Given the description of an element on the screen output the (x, y) to click on. 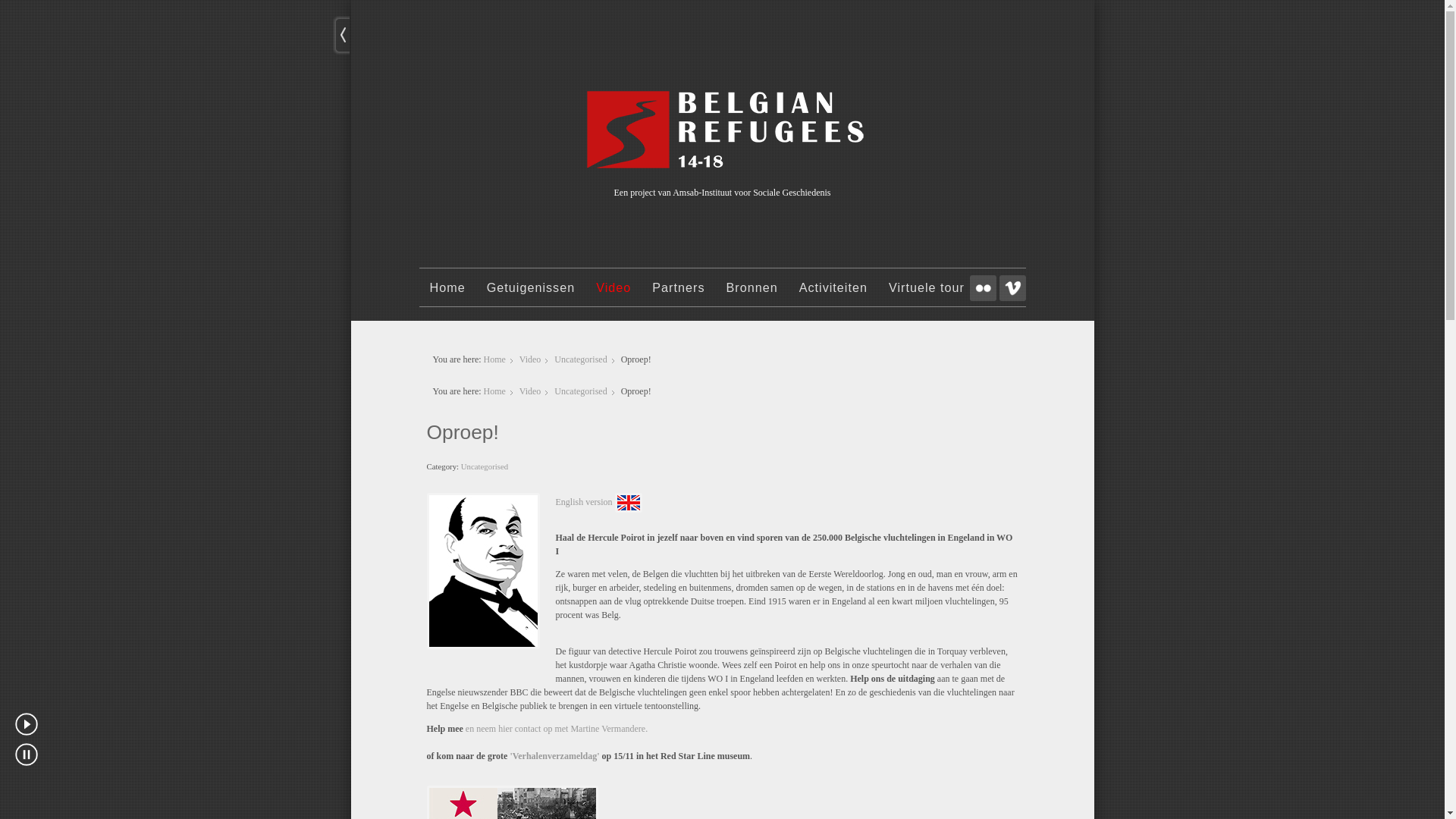
Uncategorised Element type: text (484, 465)
Activiteiten Element type: text (833, 293)
Uncategorised Element type: text (580, 390)
Getuigenissen Element type: text (531, 293)
Vimeo Element type: hover (1012, 288)
Virtuele tour Element type: text (926, 293)
English version Element type: text (583, 501)
Uncategorised Element type: text (580, 359)
Bronnen Element type: text (751, 293)
Home Element type: text (446, 293)
Video Element type: text (530, 359)
en neem hier contact op met Martine Vermandere. Element type: text (556, 728)
Flickr Element type: hover (982, 288)
Partners Element type: text (678, 293)
Home Element type: text (494, 359)
Home Element type: text (494, 390)
Video Element type: text (530, 390)
'Verhalenverzameldag' Element type: text (554, 755)
Video Element type: text (613, 293)
